Given the description of an element on the screen output the (x, y) to click on. 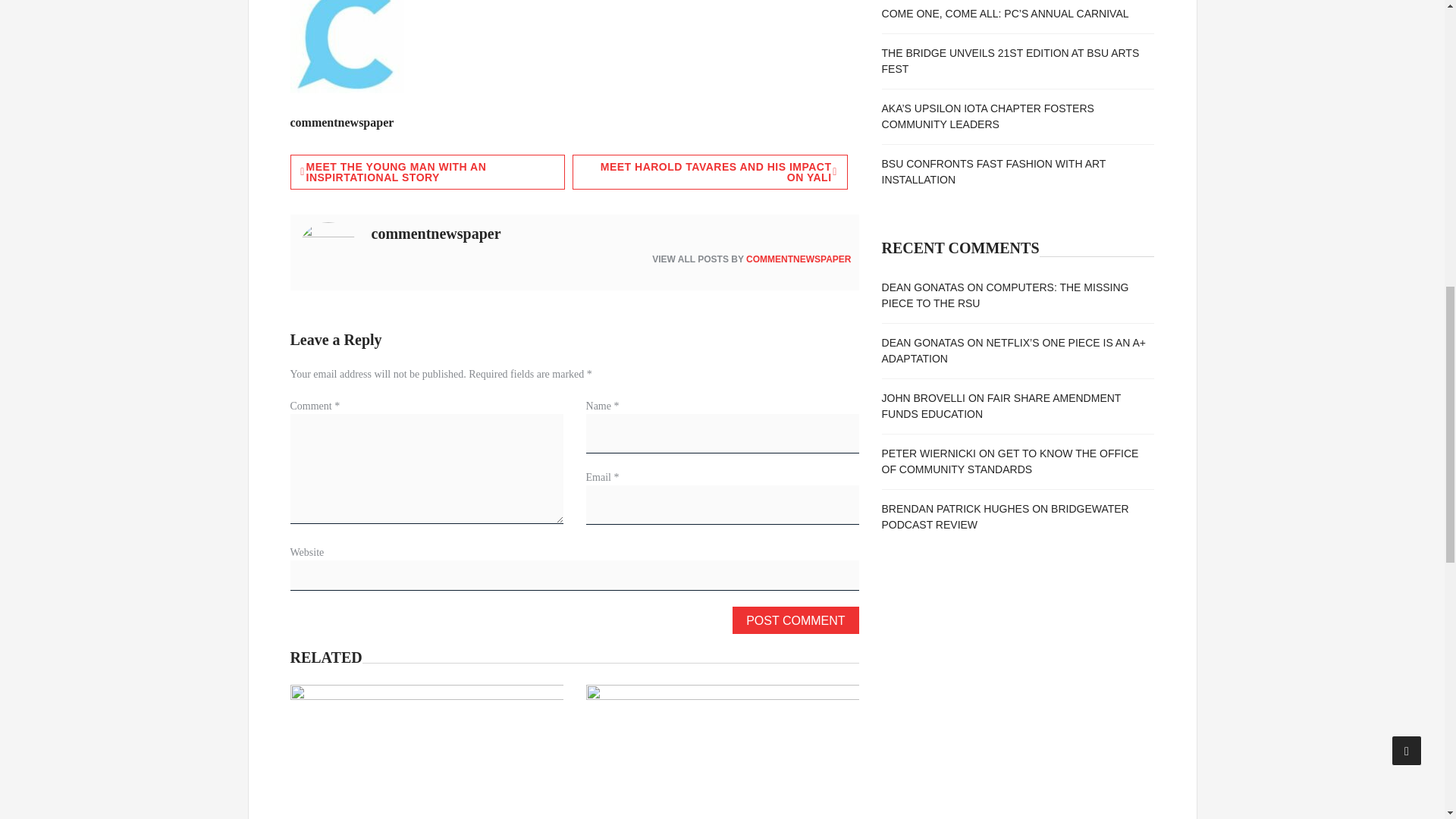
MEET HAROLD TAVARES AND HIS IMPACT ON YALI (709, 171)
Post Comment (795, 619)
commentnewspaper (341, 122)
COMMENTNEWSPAPER (797, 258)
MEET THE YOUNG MAN WITH AN INSPIRTATIONAL STORY (426, 171)
Post Comment (795, 619)
